Given the description of an element on the screen output the (x, y) to click on. 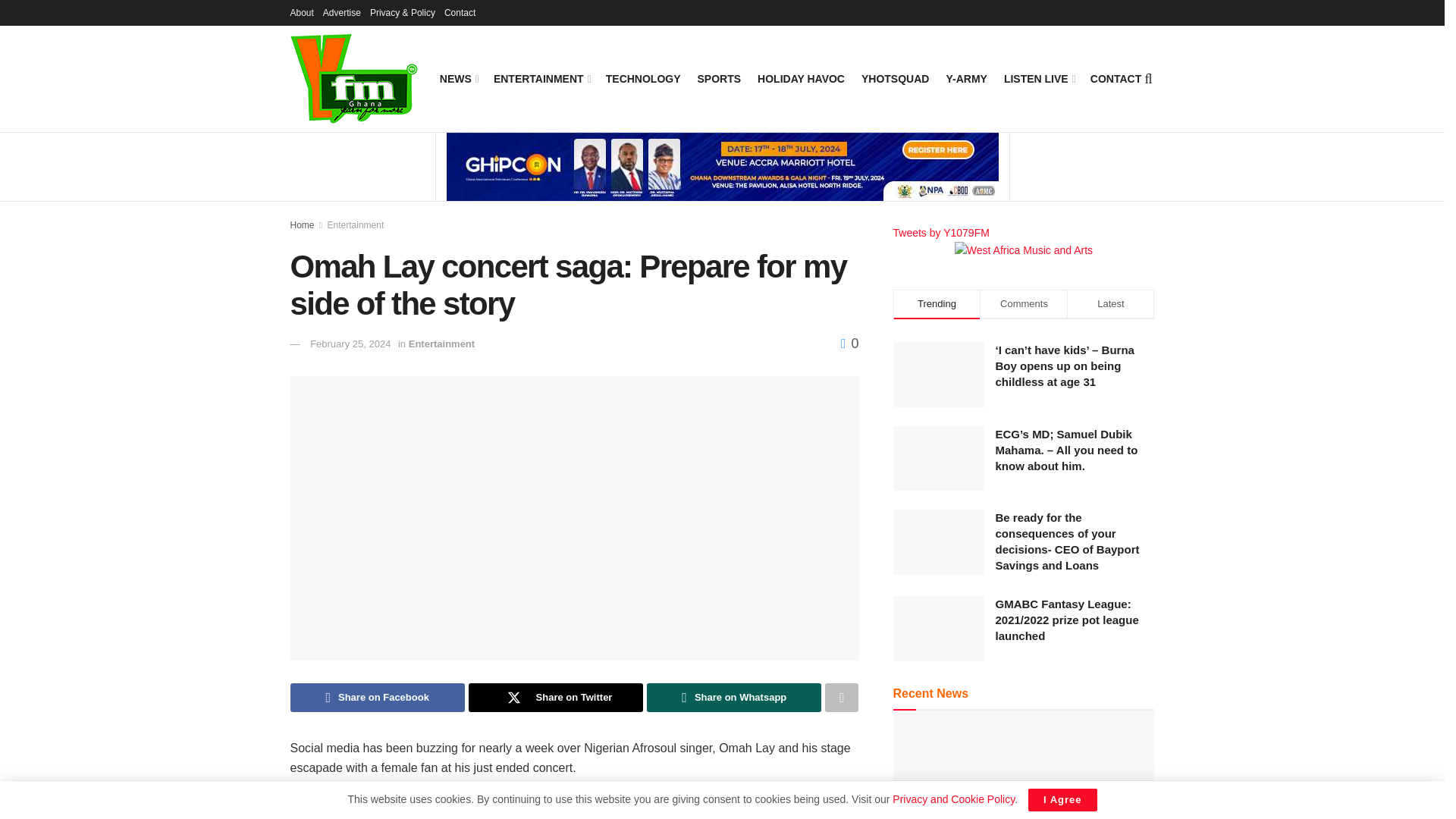
Contact (460, 12)
LISTEN LIVE (1039, 78)
ENTERTAINMENT (541, 78)
SPORTS (719, 78)
YHOTSQUAD (894, 78)
TECHNOLOGY (643, 78)
NEWS (458, 78)
HOLIDAY HAVOC (800, 78)
Advertise (342, 12)
Y-ARMY (965, 78)
About (301, 12)
CONTACT (1115, 78)
